Given the description of an element on the screen output the (x, y) to click on. 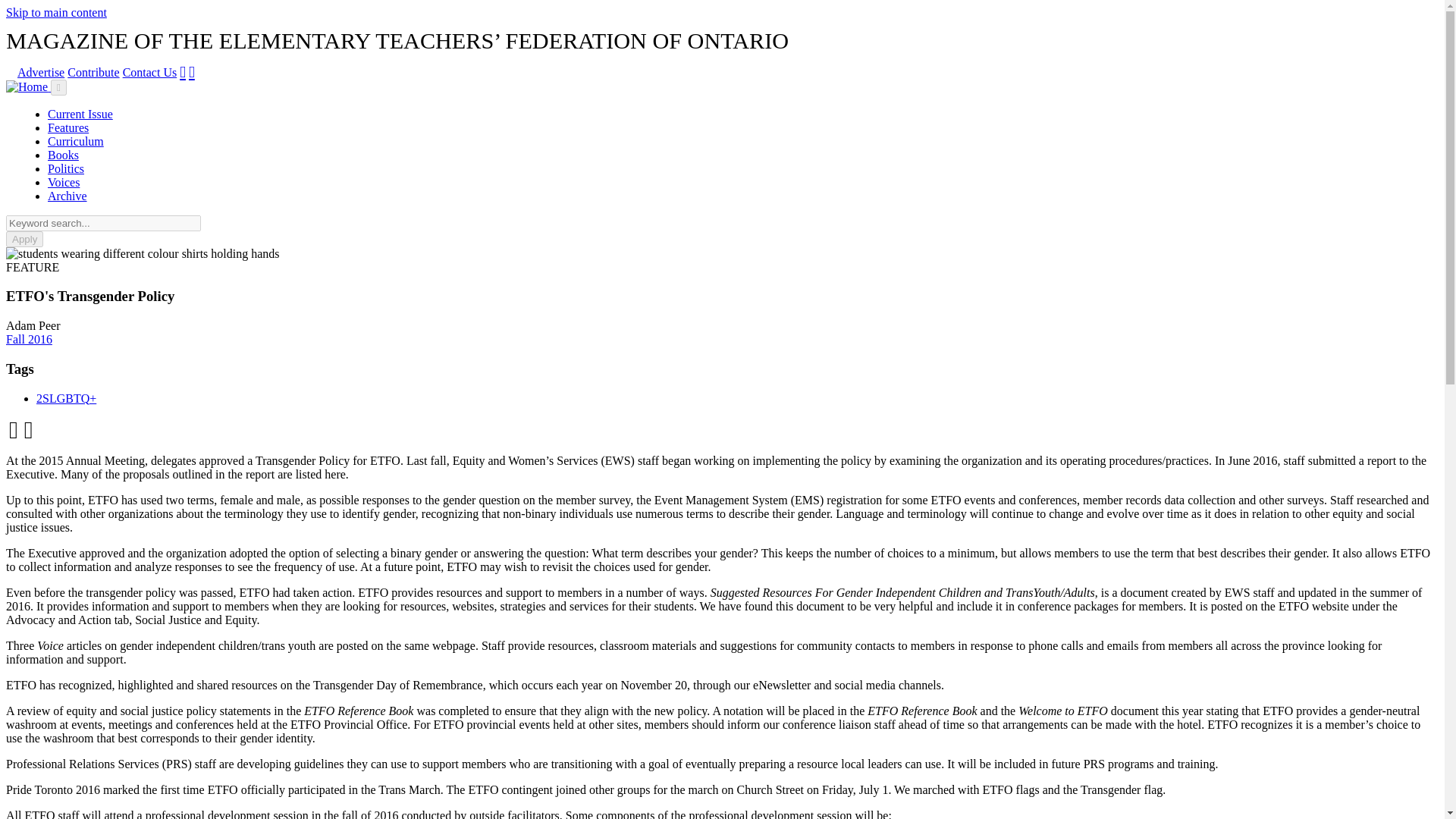
Apply (24, 238)
Advertise (40, 72)
Skip to main content (55, 11)
Features (68, 127)
Curriculum (75, 141)
Twitter (192, 71)
Home (27, 86)
Archive (67, 195)
Politics (66, 168)
Fall 2016 (28, 338)
Books (63, 154)
Facebook (182, 71)
Voices (64, 182)
Contact Us (149, 72)
Current Issue (80, 113)
